Given the description of an element on the screen output the (x, y) to click on. 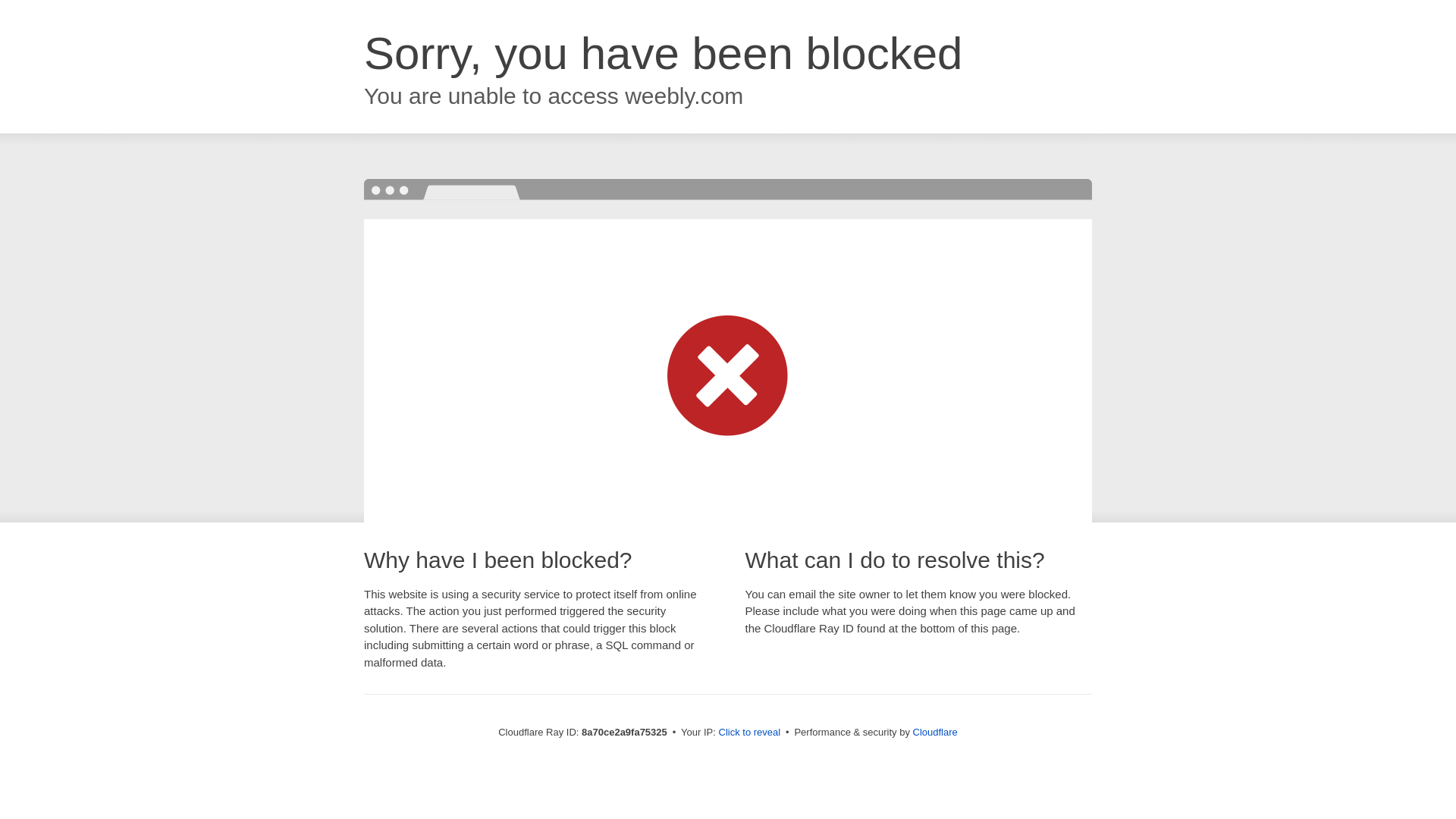
Click to reveal (749, 732)
Cloudflare (935, 731)
